Given the description of an element on the screen output the (x, y) to click on. 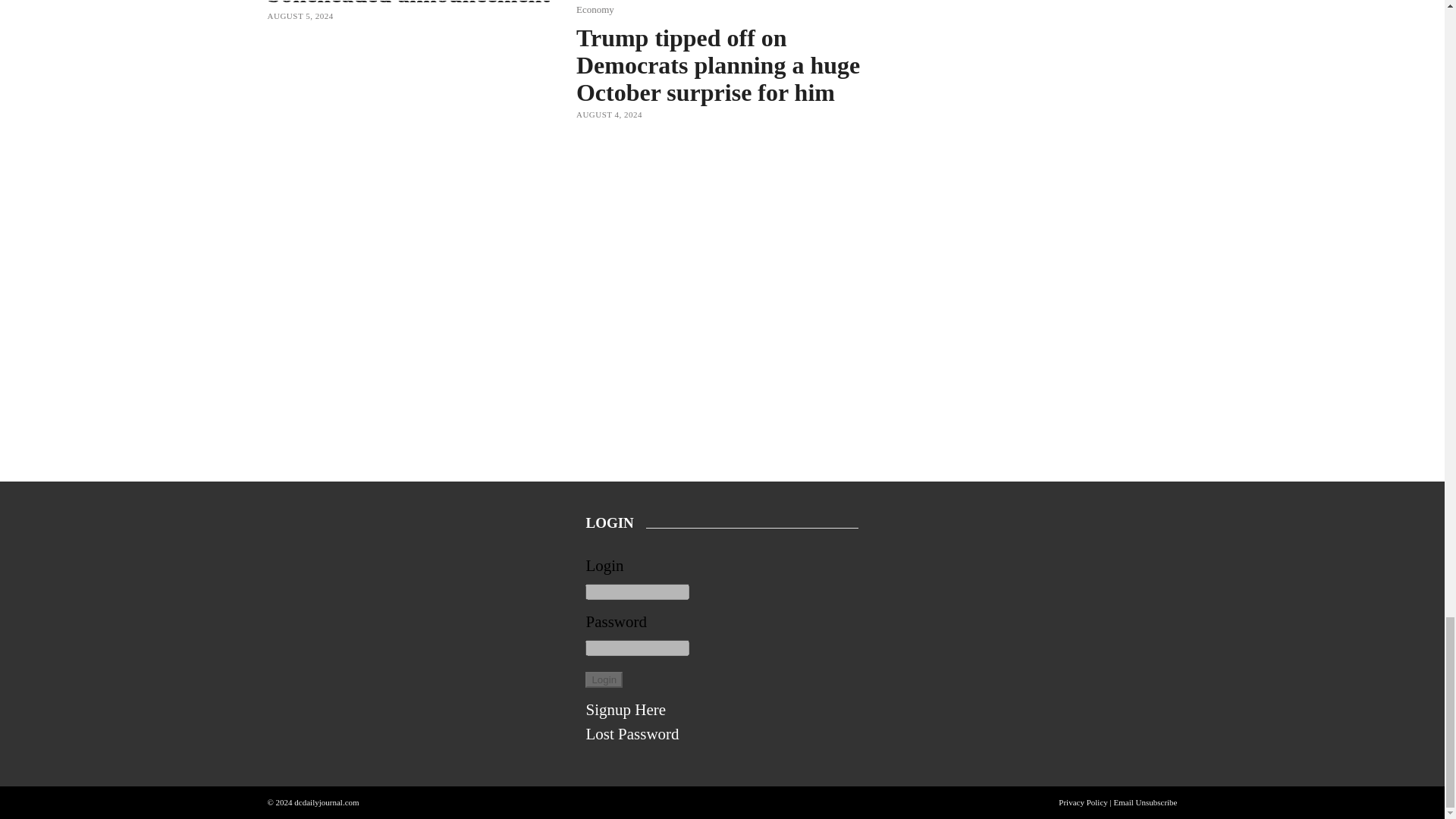
Login (604, 679)
